Given the description of an element on the screen output the (x, y) to click on. 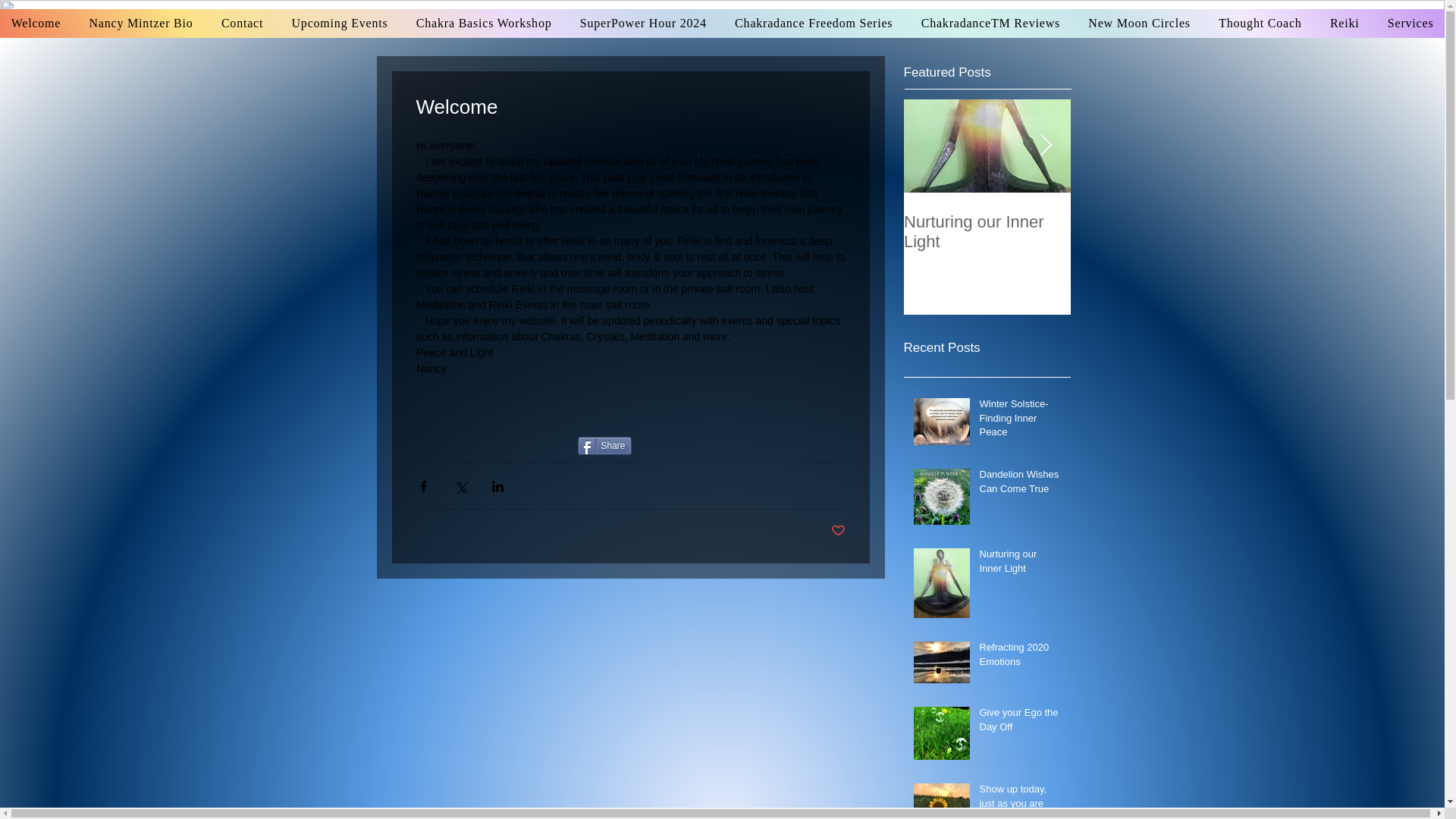
SuperPower Hour 2024 (643, 23)
Dandelion Wishes Can Come True (1020, 484)
ChakradanceTM Reviews (990, 23)
Show up today, just as you are (1020, 798)
Contact (242, 23)
Post not marked as liked (838, 530)
Share (604, 445)
New Moon Circles (1139, 23)
Share (604, 445)
Welcome (35, 23)
Nurturing our Inner Light (1020, 563)
Nancy Mintzer Bio (140, 23)
Upcoming Events (339, 23)
Thought Coach (1260, 23)
Winter Solstice-Finding Inner Peace (1020, 421)
